Given the description of an element on the screen output the (x, y) to click on. 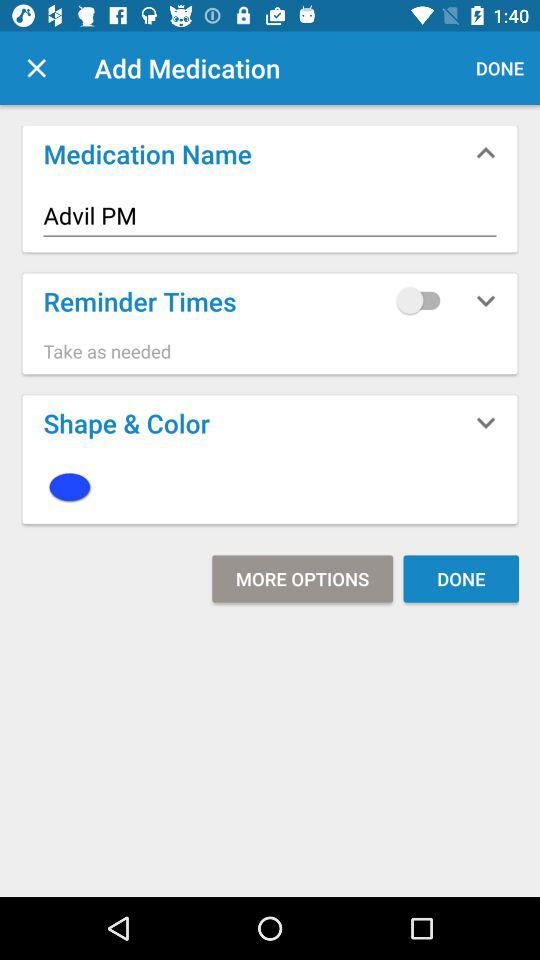
turn off the item next to add medication icon (36, 68)
